Given the description of an element on the screen output the (x, y) to click on. 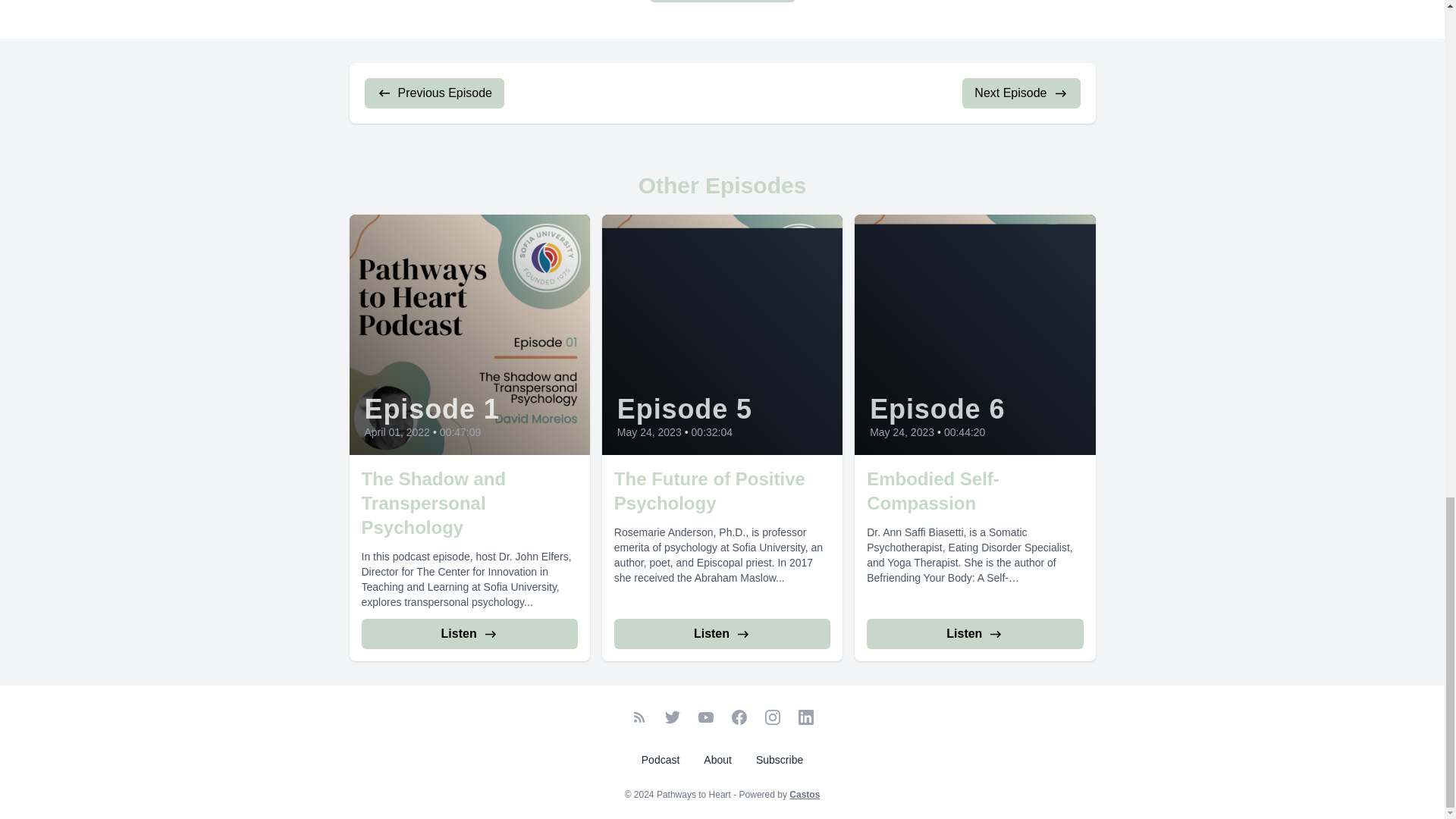
Powered by Castos (804, 794)
Previous Episode (433, 92)
Next Episode (1021, 92)
